Given the description of an element on the screen output the (x, y) to click on. 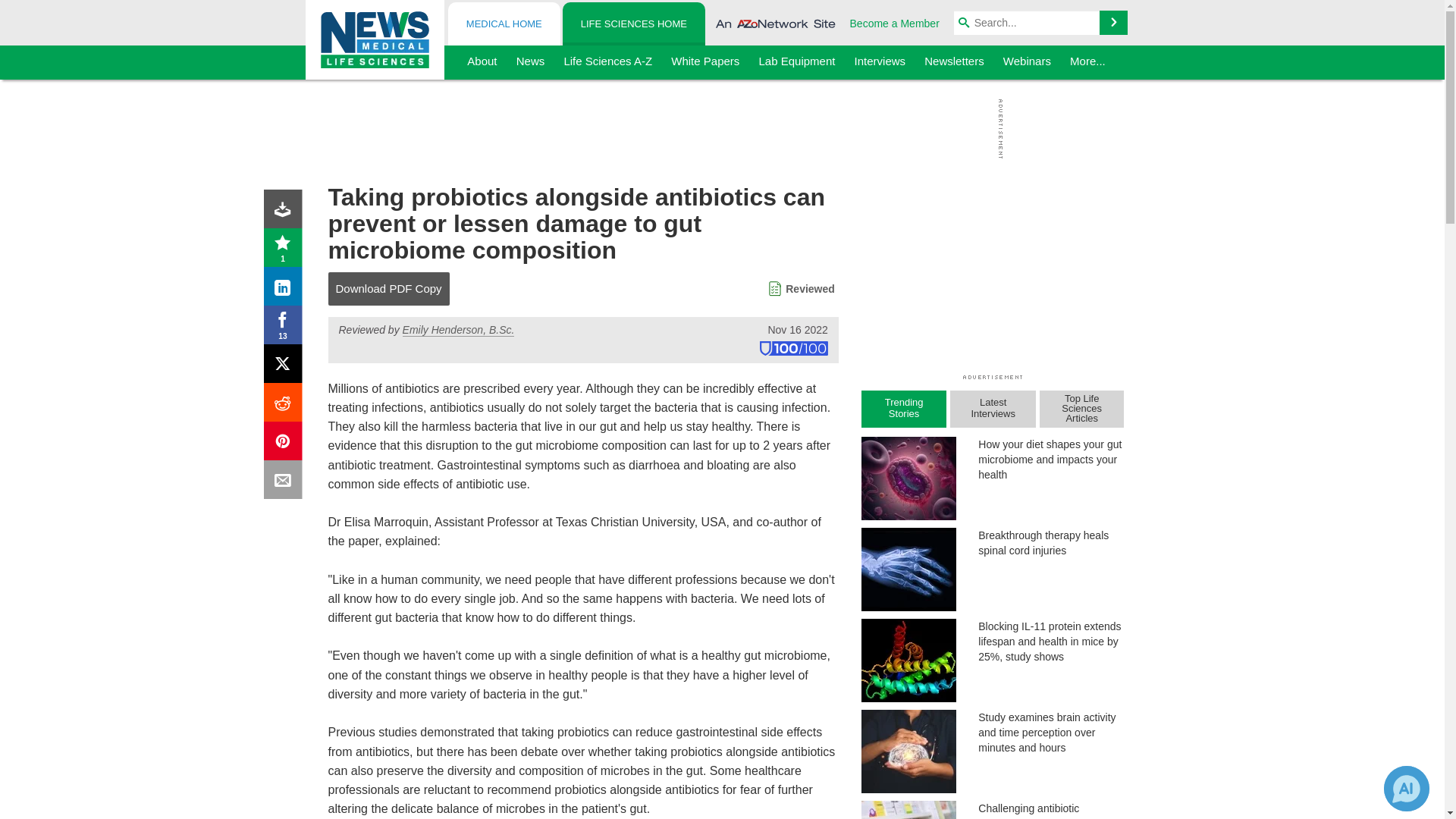
Download PDF copy (285, 212)
Facebook (285, 328)
LIFE SCIENCES HOME (633, 23)
Email (285, 483)
X (285, 366)
LinkedIn (285, 289)
Pinterest (285, 443)
MEDICAL HOME (504, 23)
Rating (285, 250)
Search (1112, 22)
Become a Member (894, 22)
Reddit (285, 405)
